Given the description of an element on the screen output the (x, y) to click on. 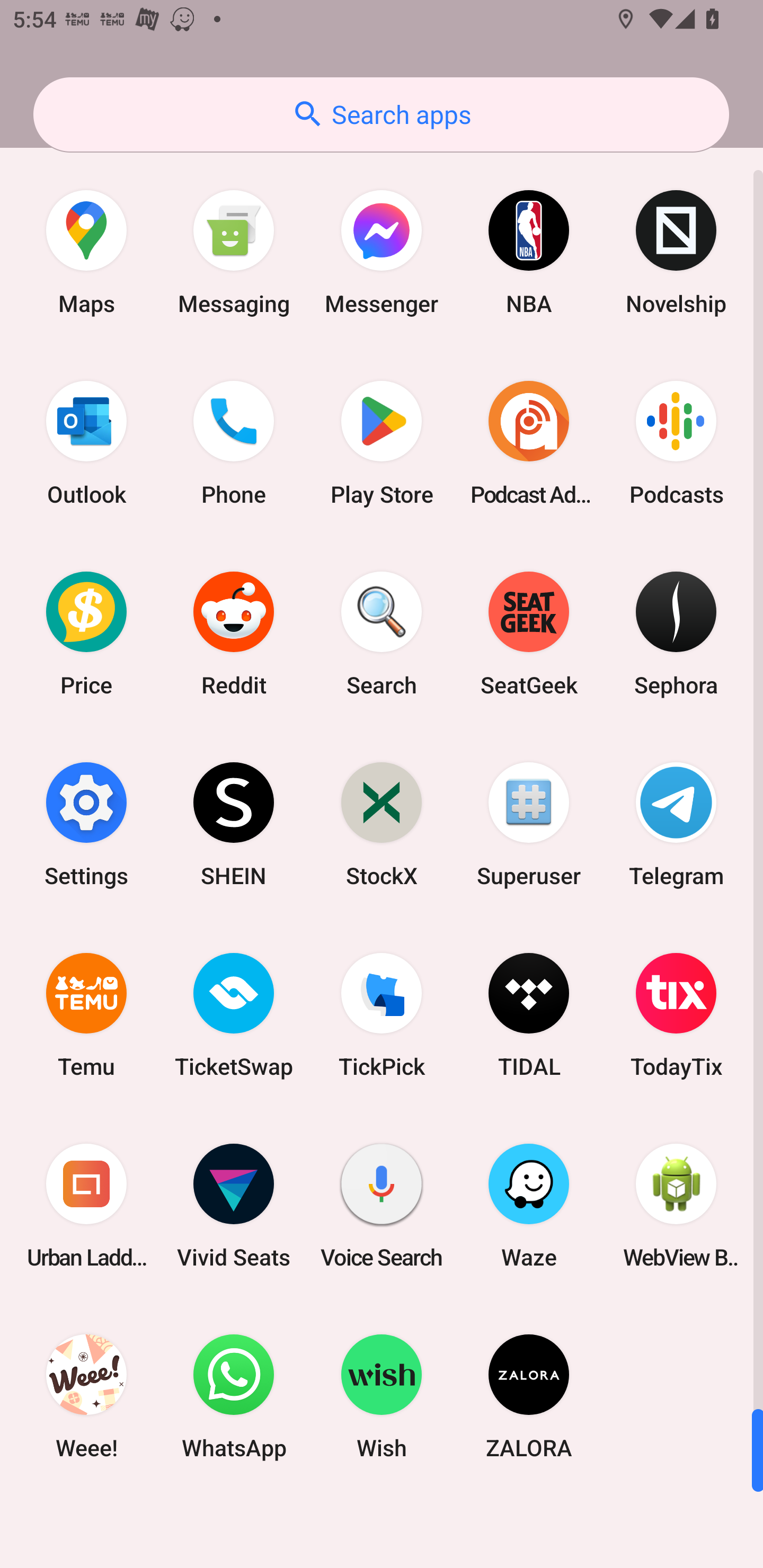
  Search apps (381, 114)
Maps (86, 252)
Messaging (233, 252)
Messenger (381, 252)
NBA (528, 252)
Novelship (676, 252)
Outlook (86, 442)
Phone (233, 442)
Play Store (381, 442)
Podcast Addict (528, 442)
Podcasts (676, 442)
Price (86, 633)
Reddit (233, 633)
Search (381, 633)
SeatGeek (528, 633)
Sephora (676, 633)
Settings (86, 823)
SHEIN (233, 823)
StockX (381, 823)
Superuser (528, 823)
Telegram (676, 823)
Temu (86, 1014)
TicketSwap (233, 1014)
TickPick (381, 1014)
TIDAL (528, 1014)
TodayTix (676, 1014)
Urban Ladder (86, 1205)
Vivid Seats (233, 1205)
Voice Search (381, 1205)
Waze (528, 1205)
WebView Browser Tester (676, 1205)
Weee! (86, 1396)
WhatsApp (233, 1396)
Wish (381, 1396)
ZALORA (528, 1396)
